Given the description of an element on the screen output the (x, y) to click on. 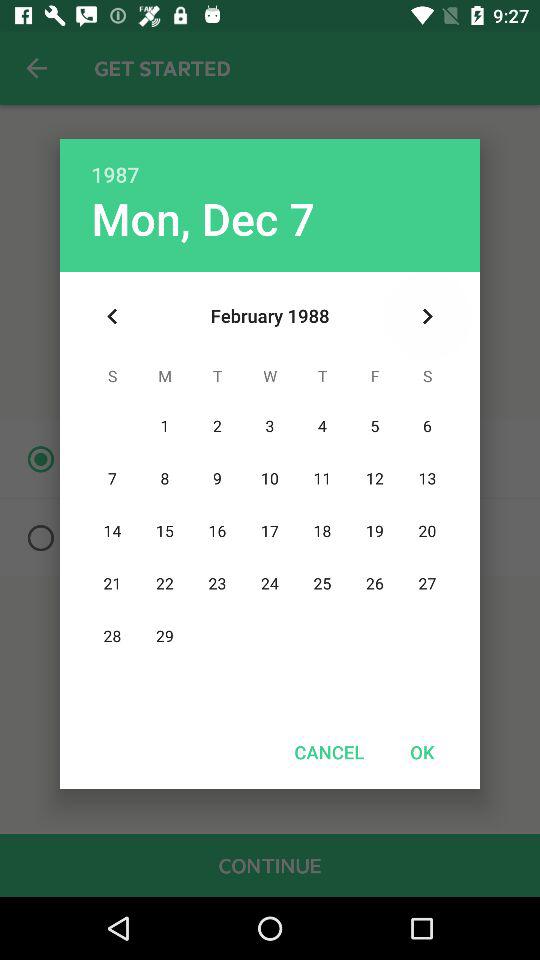
turn off the item above the mon, dec 7 item (269, 163)
